Given the description of an element on the screen output the (x, y) to click on. 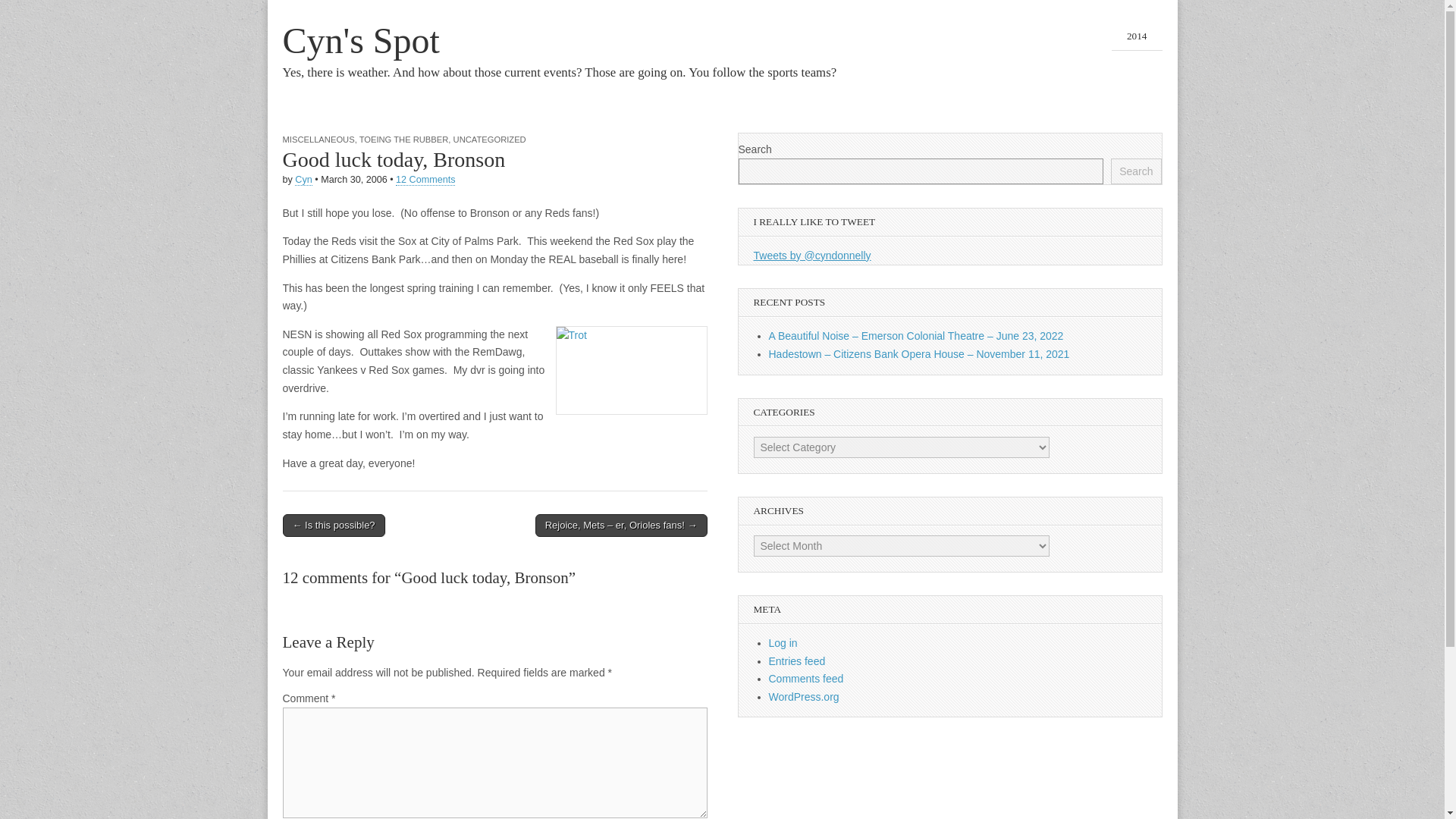
Cyn's Spot (360, 40)
12 Comments (425, 179)
Search (1135, 171)
Comments feed (806, 678)
Cyn's Spot (360, 40)
Log in (782, 643)
WordPress.org (804, 696)
Posts by Cyn (303, 179)
Cyn (303, 179)
Entries feed (796, 661)
TOEING THE RUBBER (403, 139)
UNCATEGORIZED (488, 139)
MISCELLANEOUS (317, 139)
